Given the description of an element on the screen output the (x, y) to click on. 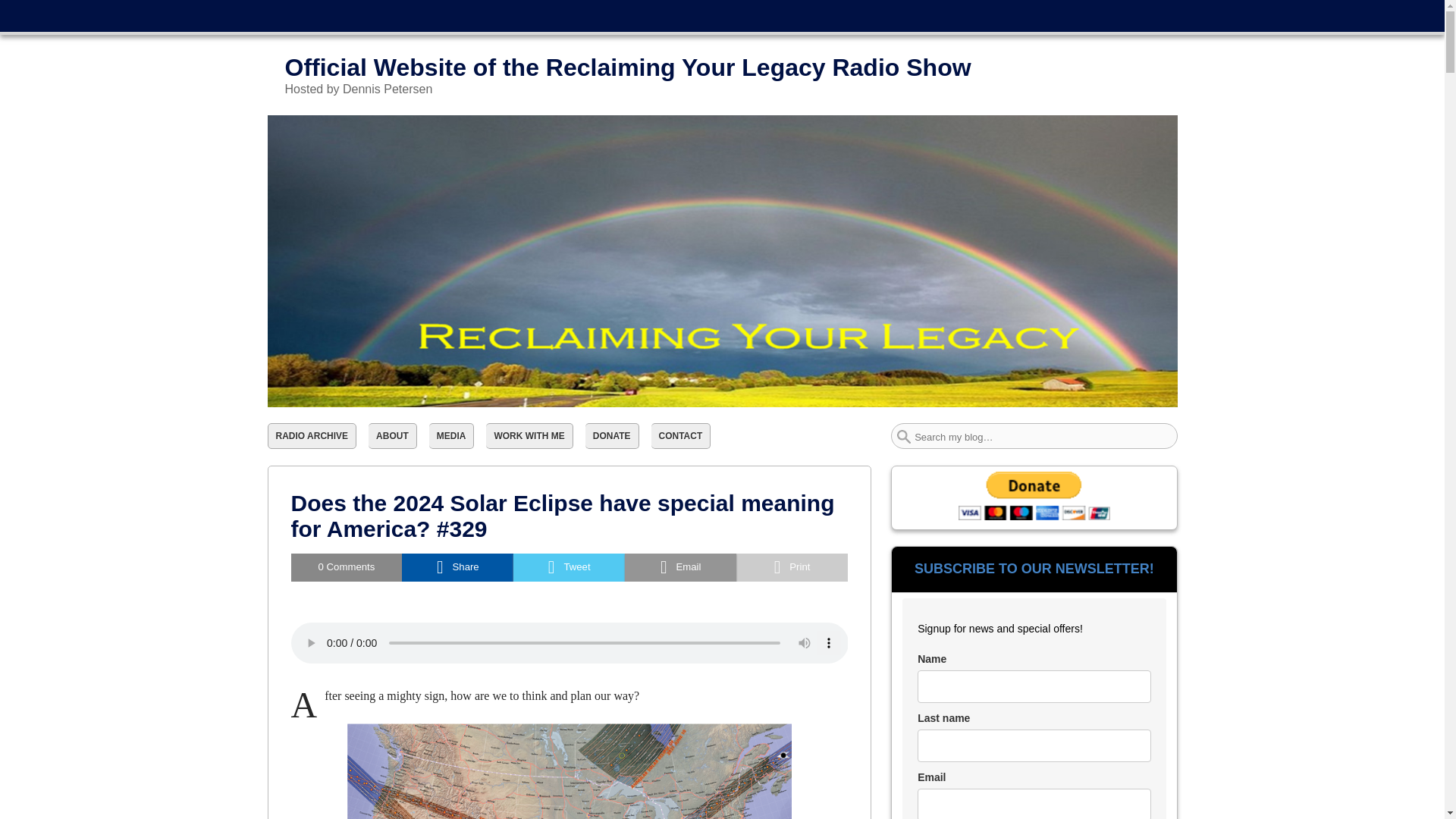
Official Website of the Reclaiming Your Legacy Radio Show (628, 67)
Email (680, 567)
WORK WITH ME (529, 435)
Share on Facebook (457, 567)
CONTACT (680, 435)
Official Website of the Reclaiming Your Legacy Radio Show (628, 67)
RADIO ARCHIVE (311, 435)
Comment on this Post (347, 567)
Skip to content (299, 10)
Tweet this Post (568, 567)
MEDIA (451, 435)
Print (791, 567)
Skip to content (299, 10)
DONATE (612, 435)
Tweet (568, 567)
